Given the description of an element on the screen output the (x, y) to click on. 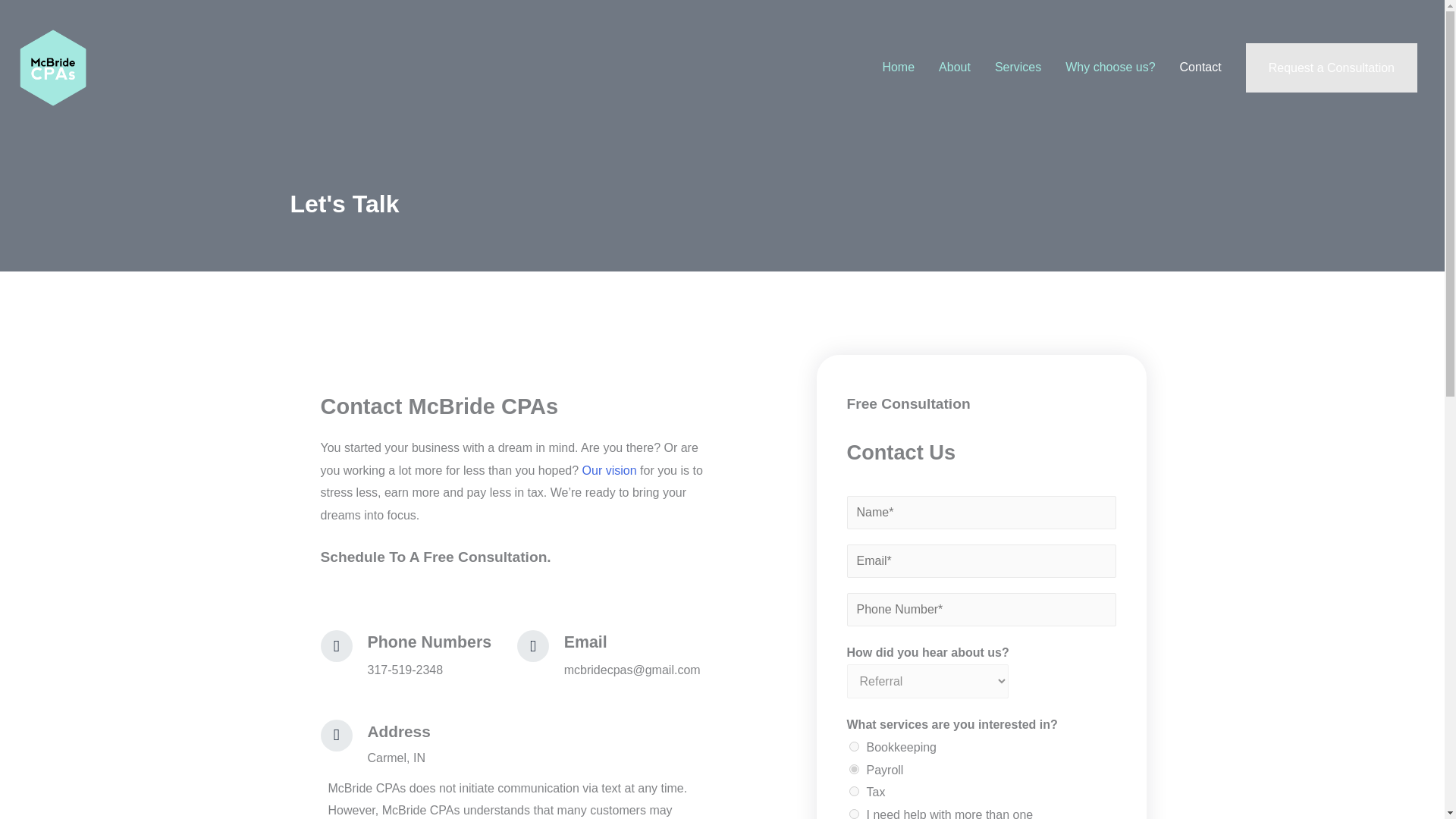
Why choose us? (1109, 67)
Tax (853, 791)
Request a Consultation (1331, 68)
Bookkeeping (853, 746)
Phone Numbers (429, 642)
Email (585, 642)
I need help with more than one (853, 814)
Services (1017, 67)
Payroll (853, 768)
Our vision (609, 470)
Home (897, 67)
Contact (1200, 67)
About (954, 67)
